Given the description of an element on the screen output the (x, y) to click on. 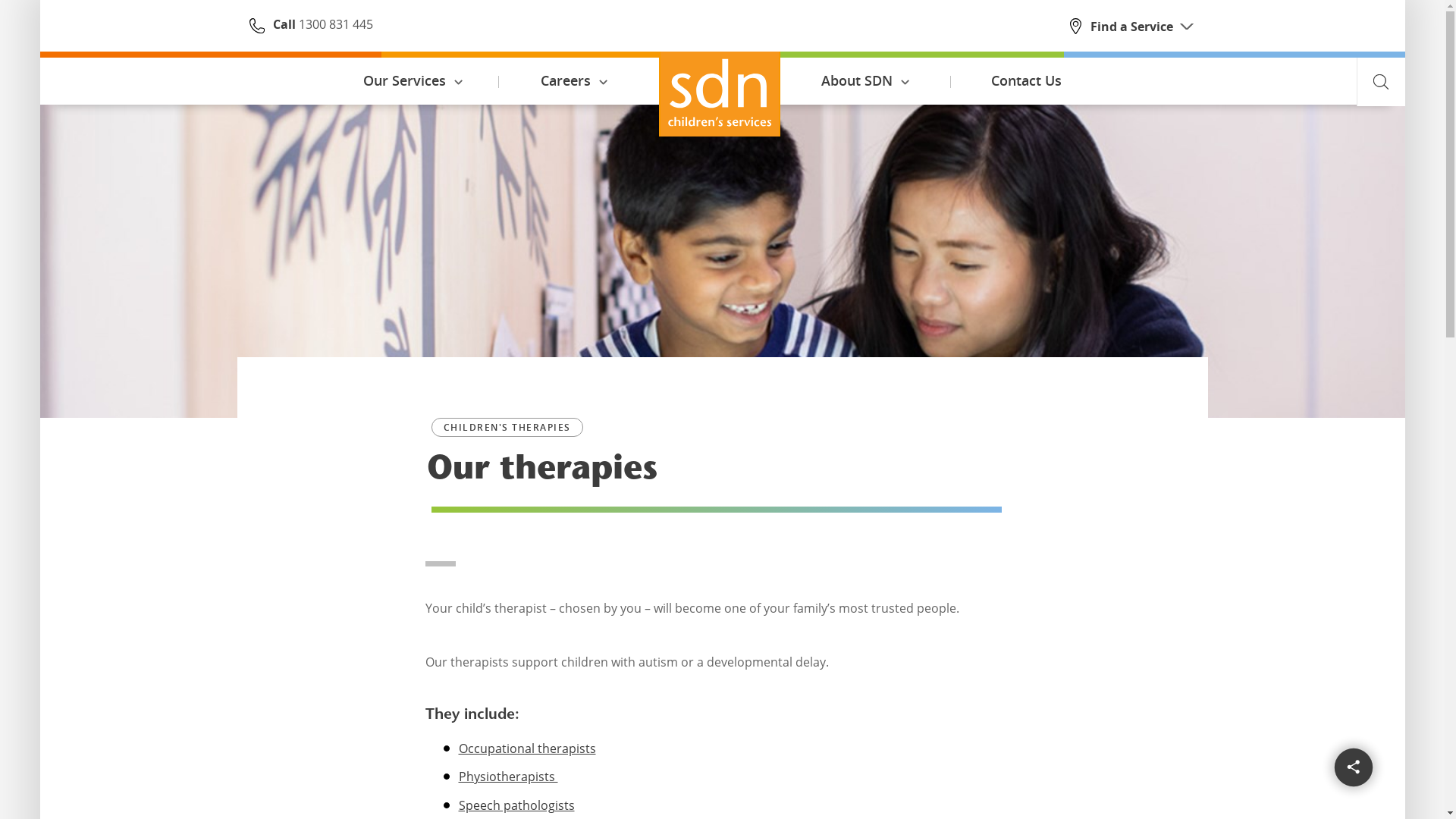
About SDN Element type: text (865, 81)
Contact Us Element type: text (1026, 81)
Speech pathologists Element type: text (516, 805)
Our Services Element type: text (413, 81)
Careers Element type: text (574, 81)
Physiotherapists  Element type: text (507, 776)
1300 831 445 Element type: text (334, 23)
Occupational therapists Element type: text (526, 748)
